Given the description of an element on the screen output the (x, y) to click on. 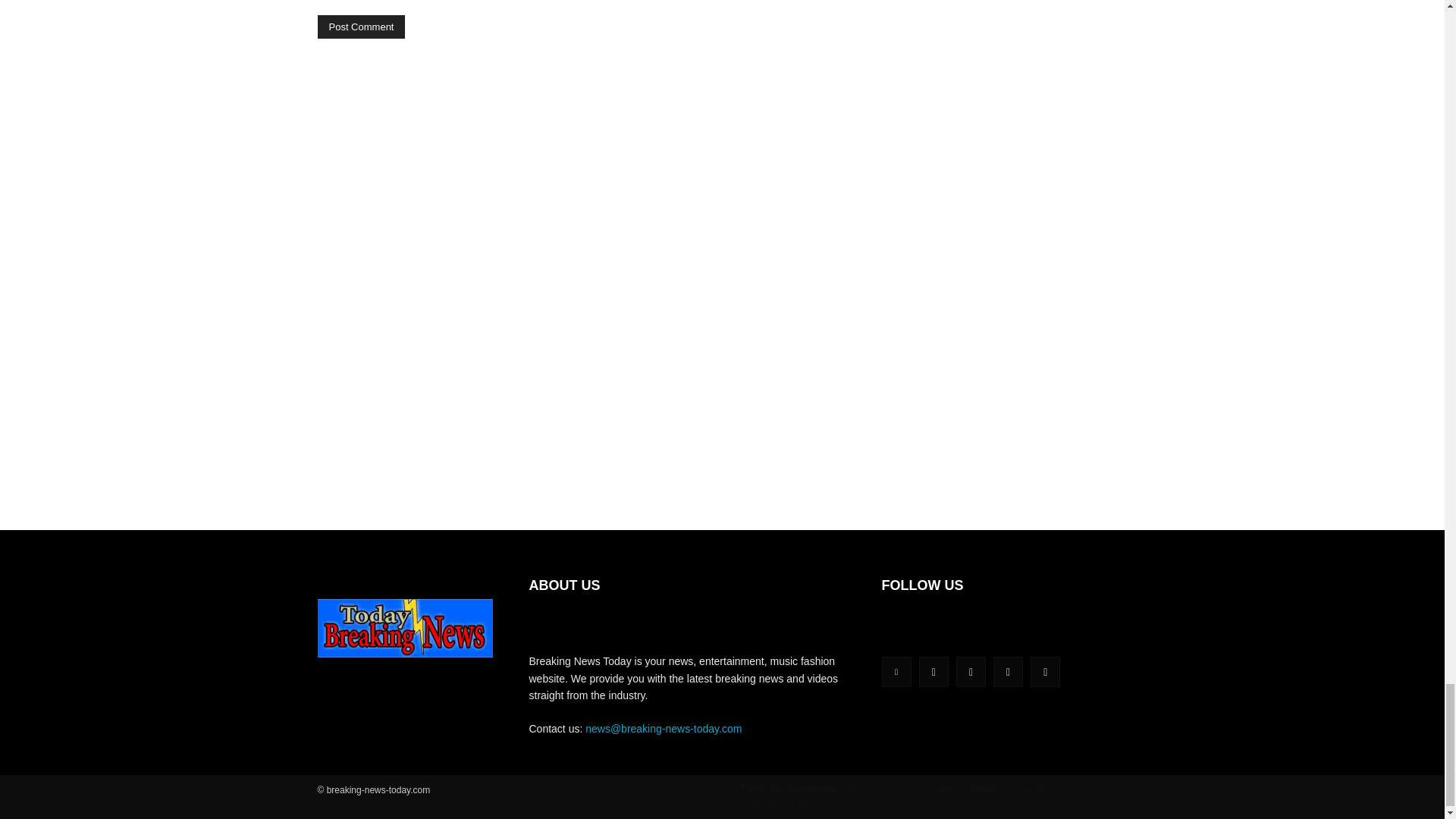
Post Comment (360, 26)
